Given the description of an element on the screen output the (x, y) to click on. 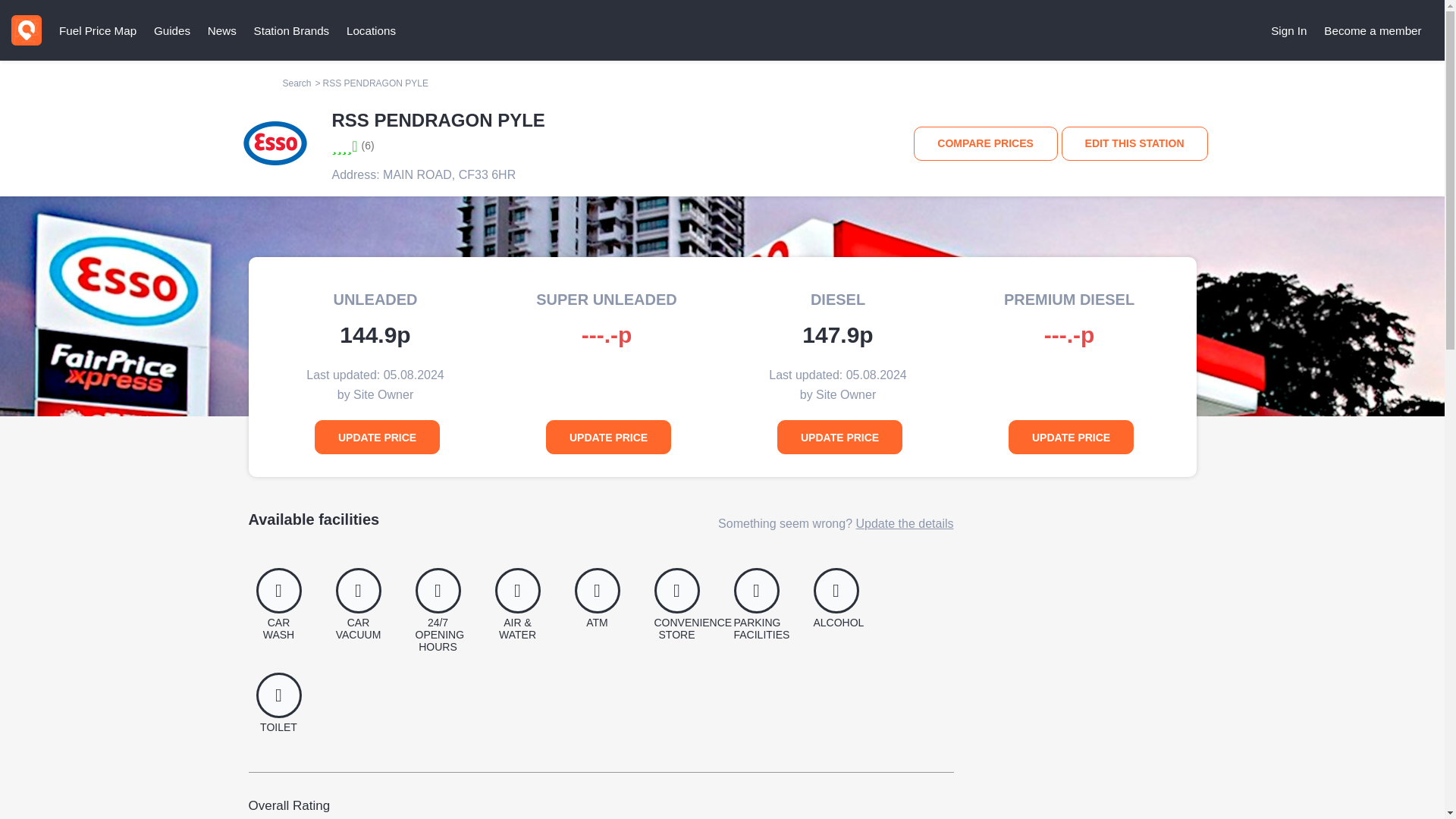
Become a member (1373, 30)
Fuel Price Map (96, 30)
Station Brands (290, 30)
News (221, 30)
COMPARE PRICES (986, 143)
UPDATE PRICE (1071, 437)
UPDATE PRICE (608, 437)
Guides (171, 30)
Update the details (904, 522)
UPDATE PRICE (376, 437)
